Given the description of an element on the screen output the (x, y) to click on. 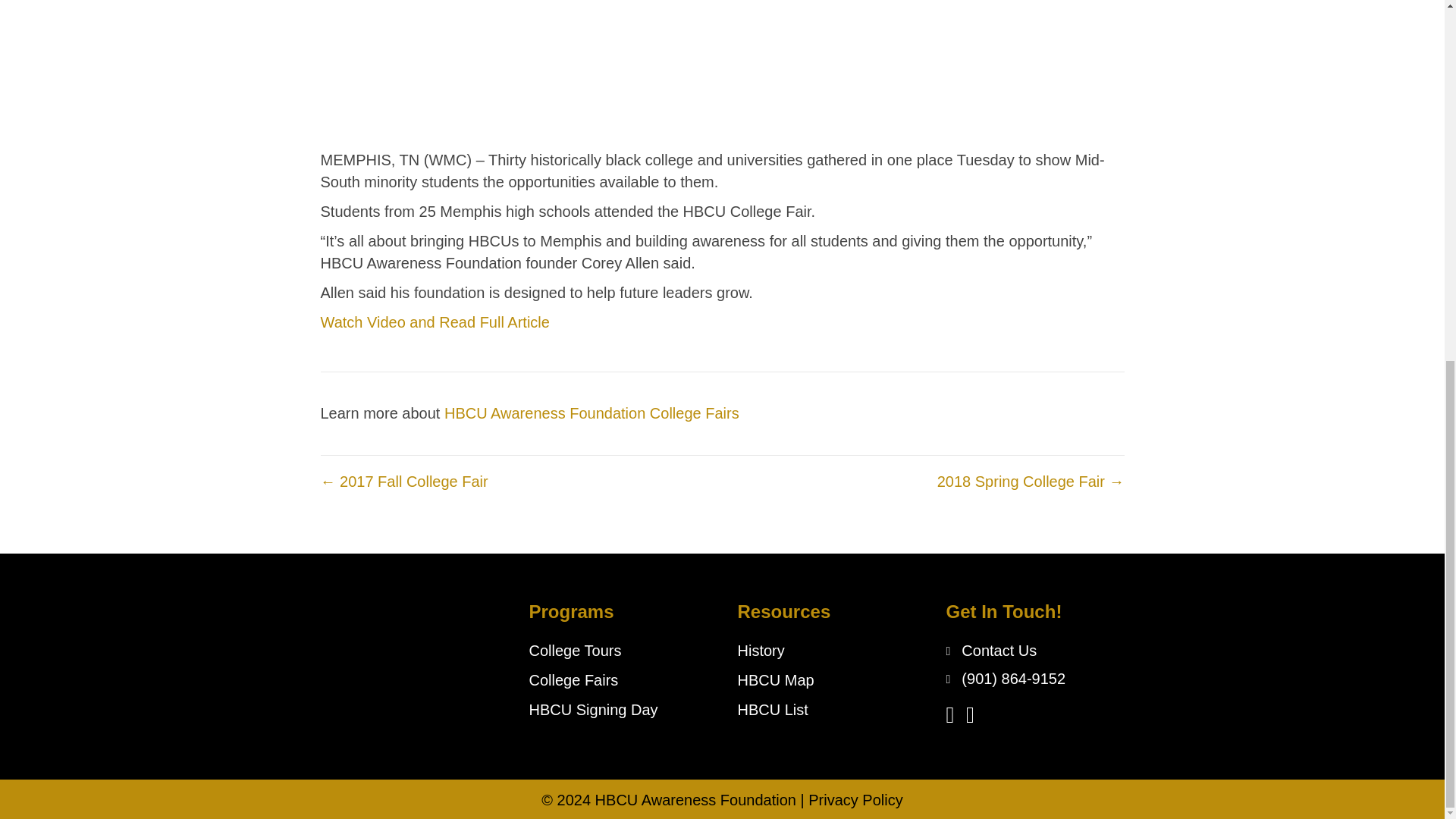
HBCU Signing Day (593, 709)
Privacy Policy (855, 799)
Article (528, 321)
History (760, 650)
HBCU Awareness Foundation College Fairs (591, 412)
HBCU Map (774, 679)
Contact Us (998, 650)
hbcu-awareness-foundation-logo (361, 637)
College Fairs (573, 679)
Watch Video and Read Full (411, 321)
HBCU Awareness Foundation (695, 799)
HBCU List (772, 709)
College Tours (575, 650)
